Given the description of an element on the screen output the (x, y) to click on. 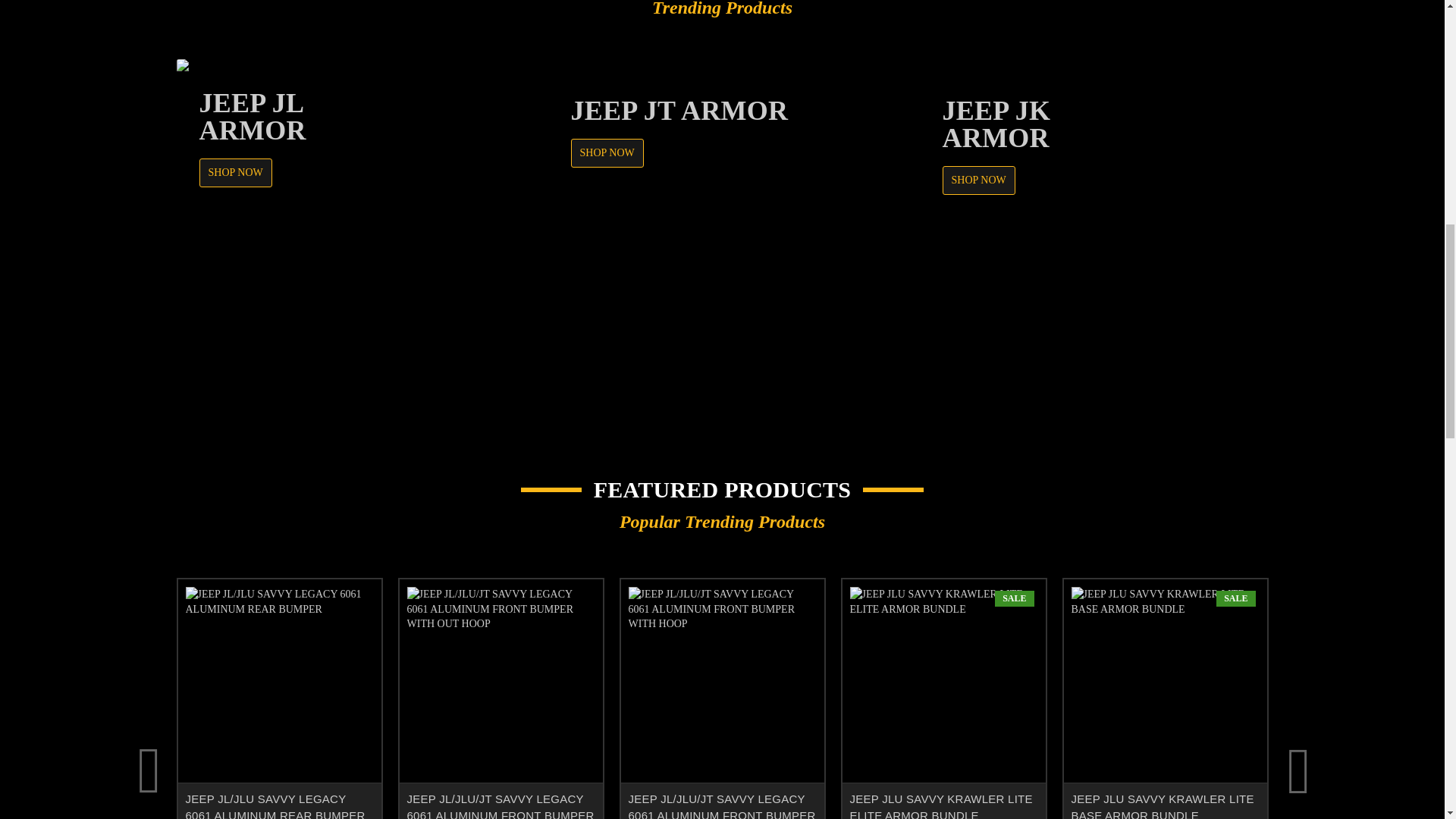
JEEP JL ARMOR  (350, 232)
JEEP JT ARMOR (721, 232)
JEEP JK ARMOR (1093, 232)
